Given the description of an element on the screen output the (x, y) to click on. 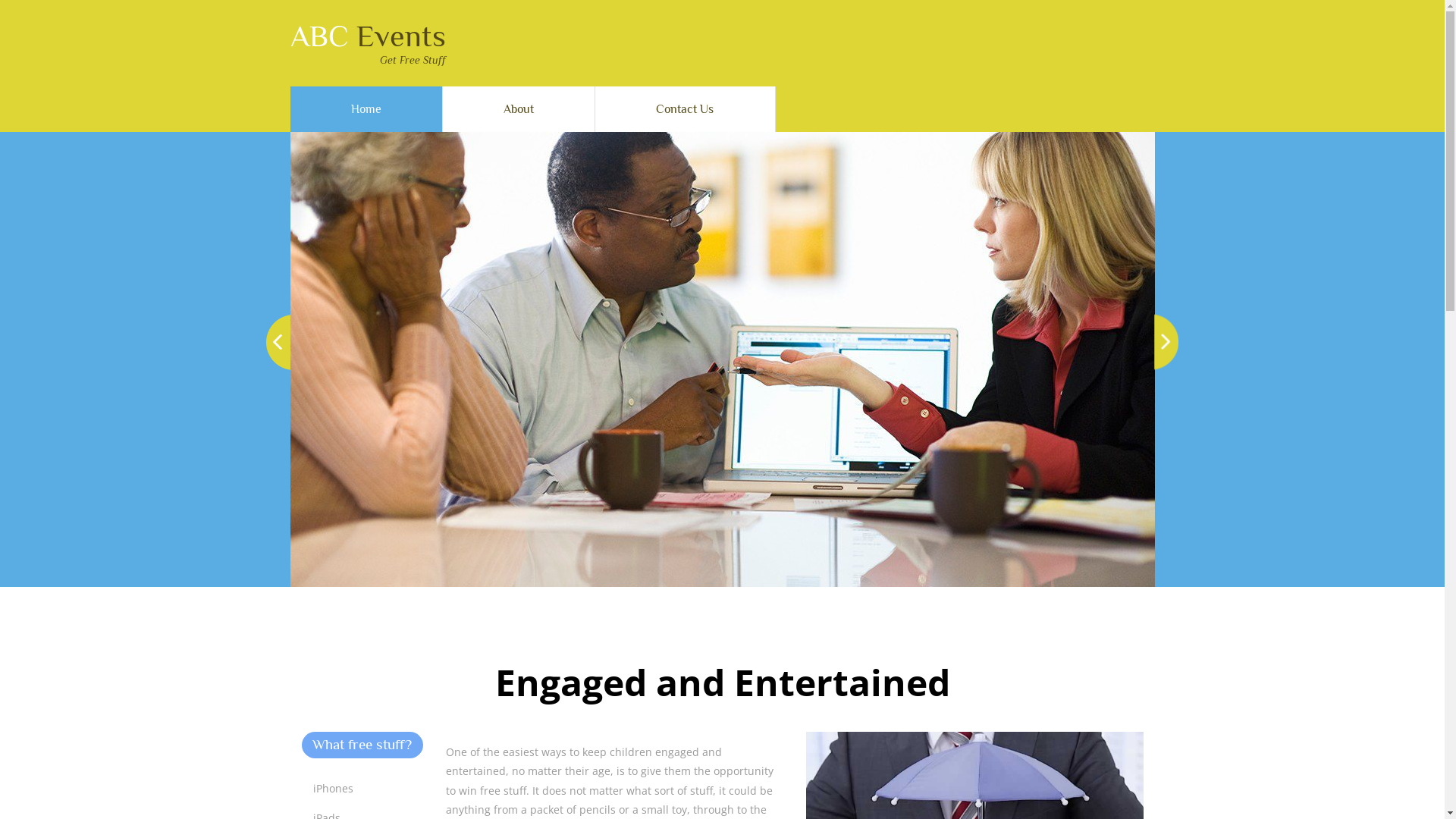
Home Element type: text (365, 108)
About Element type: text (518, 108)
ABC Events
Get Free Stuff Element type: text (367, 43)
Contact Us Element type: text (684, 108)
Previous Element type: text (277, 341)
Next Element type: text (1166, 341)
